Given the description of an element on the screen output the (x, y) to click on. 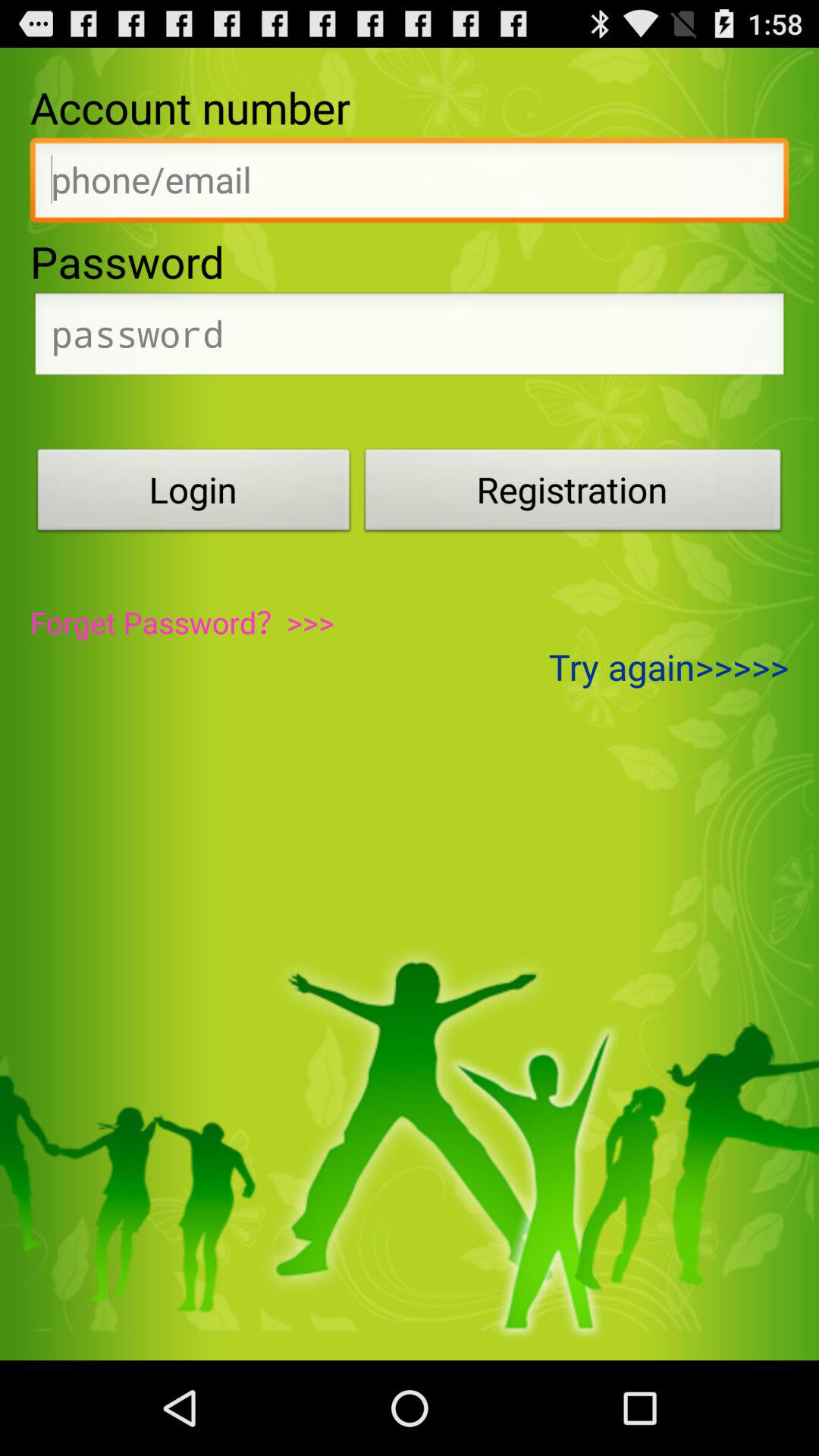
launch the icon to the right of the login (572, 494)
